Given the description of an element on the screen output the (x, y) to click on. 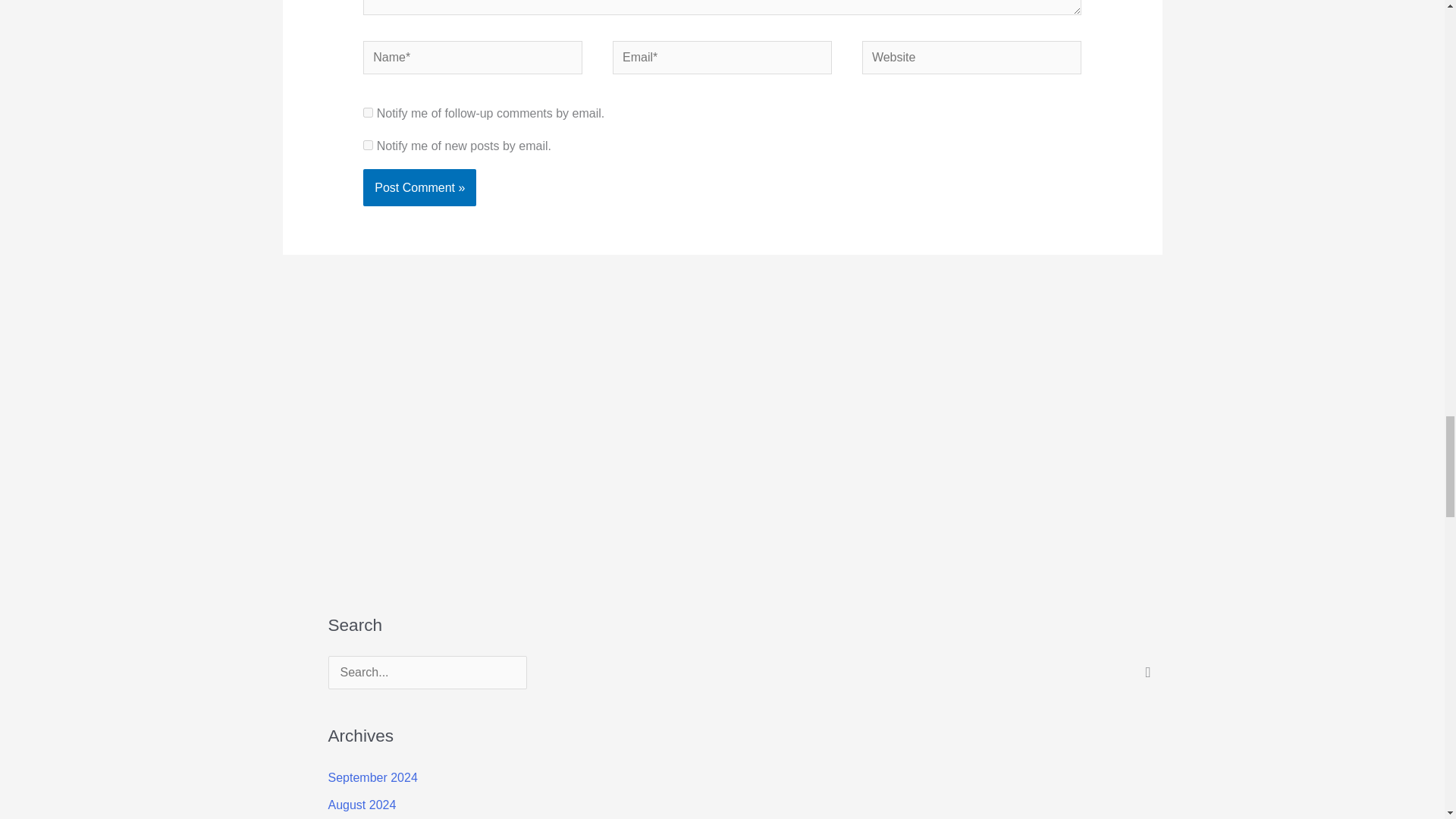
subscribe (367, 112)
September 2024 (371, 777)
August 2024 (361, 804)
subscribe (367, 144)
